Given the description of an element on the screen output the (x, y) to click on. 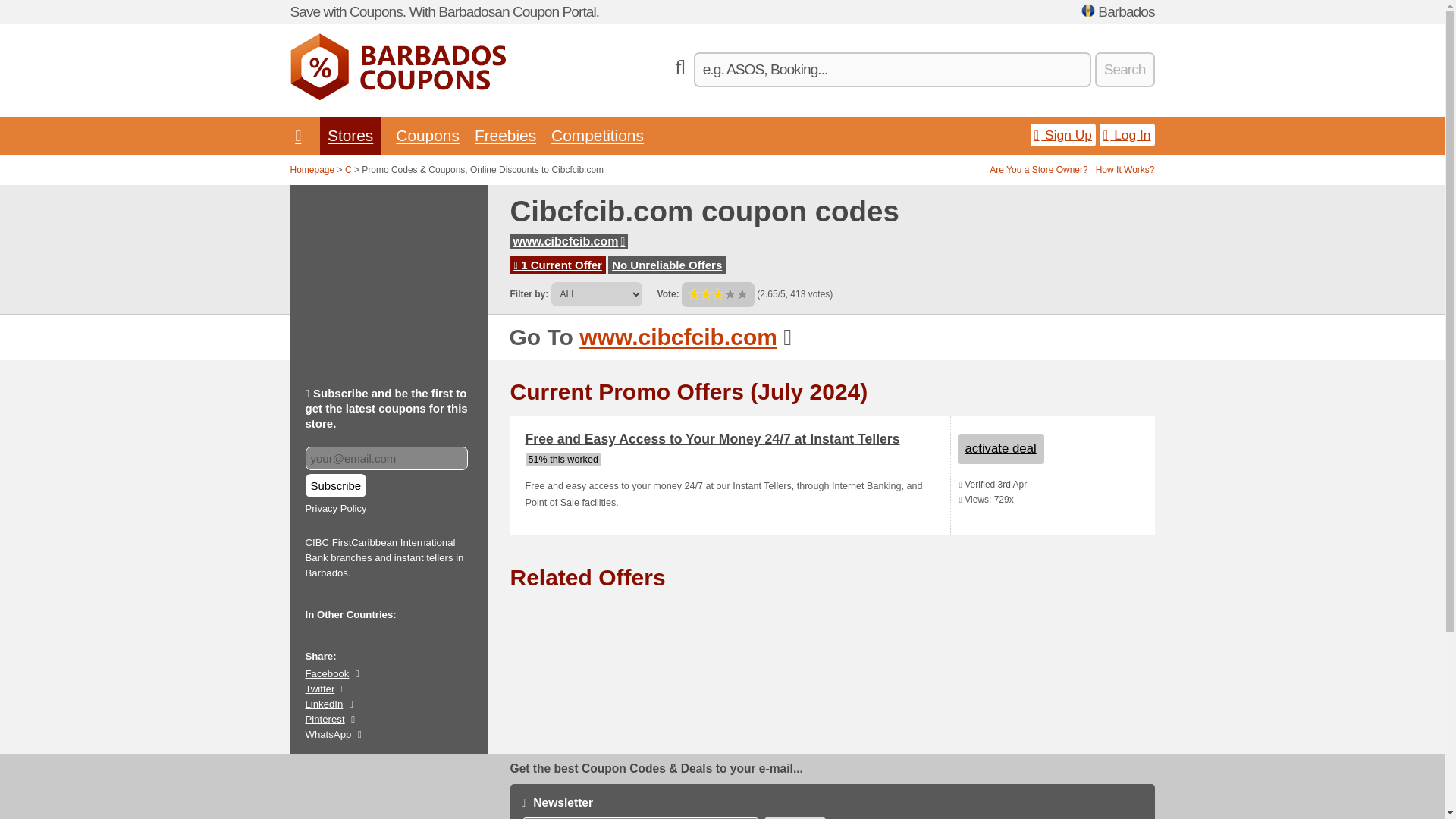
Competitions (597, 135)
Homepage (311, 169)
cibcfcib-com (568, 241)
Sign Up (1063, 134)
Freebies (504, 135)
1 Current Offer (557, 264)
e.g. ASOS, Booking... (892, 69)
Stores (349, 135)
www.cibcfcib.com (568, 241)
Search (1124, 69)
Coupons (428, 135)
How It Works? (1125, 169)
No Unreliable Offers (666, 264)
Are You a Store Owner? (1038, 169)
Search (1124, 69)
